Given the description of an element on the screen output the (x, y) to click on. 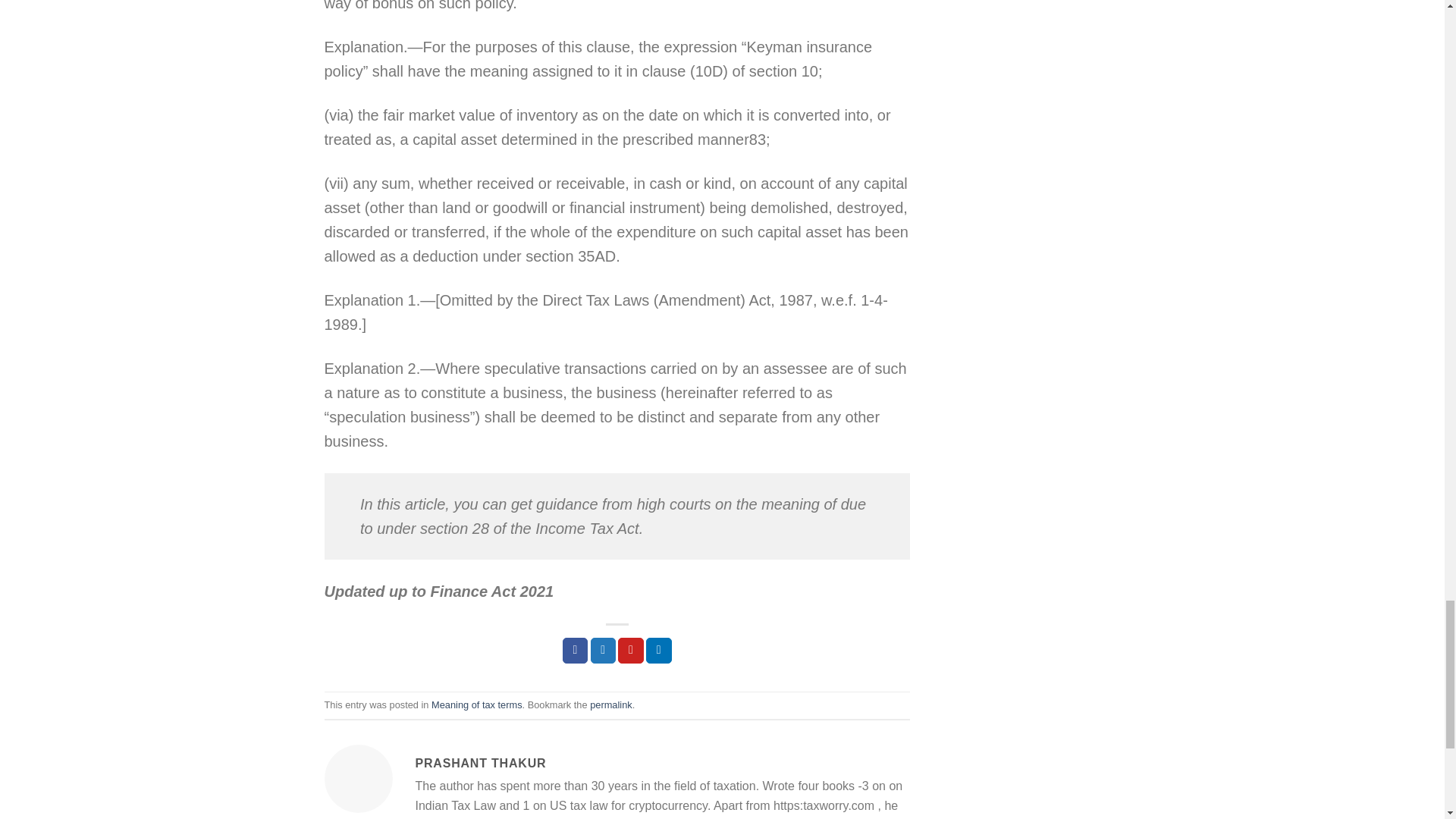
Share on Facebook (575, 650)
permalink (610, 704)
Pin on Pinterest (630, 650)
Share on LinkedIn (658, 650)
Meaning of tax terms (476, 704)
Share on Twitter (603, 650)
